Given the description of an element on the screen output the (x, y) to click on. 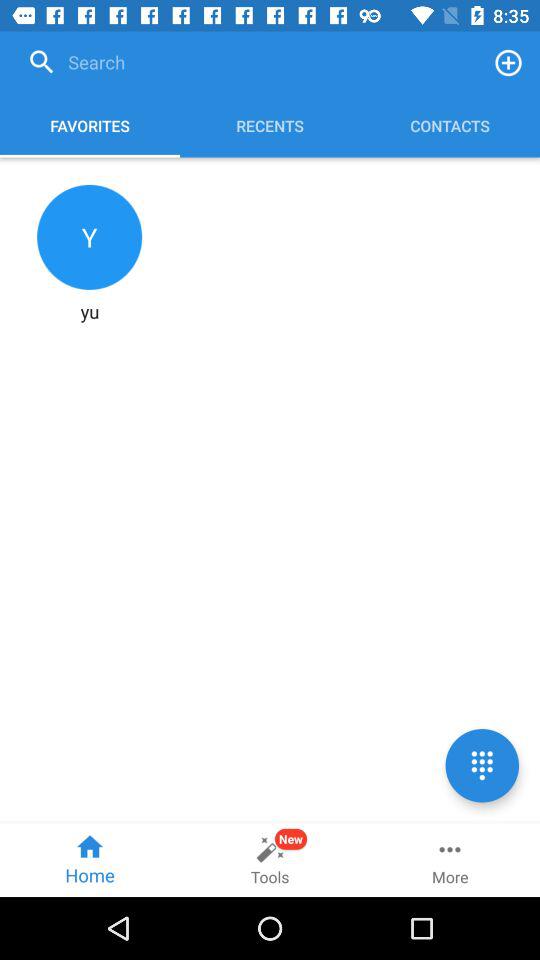
add item (508, 62)
